Given the description of an element on the screen output the (x, y) to click on. 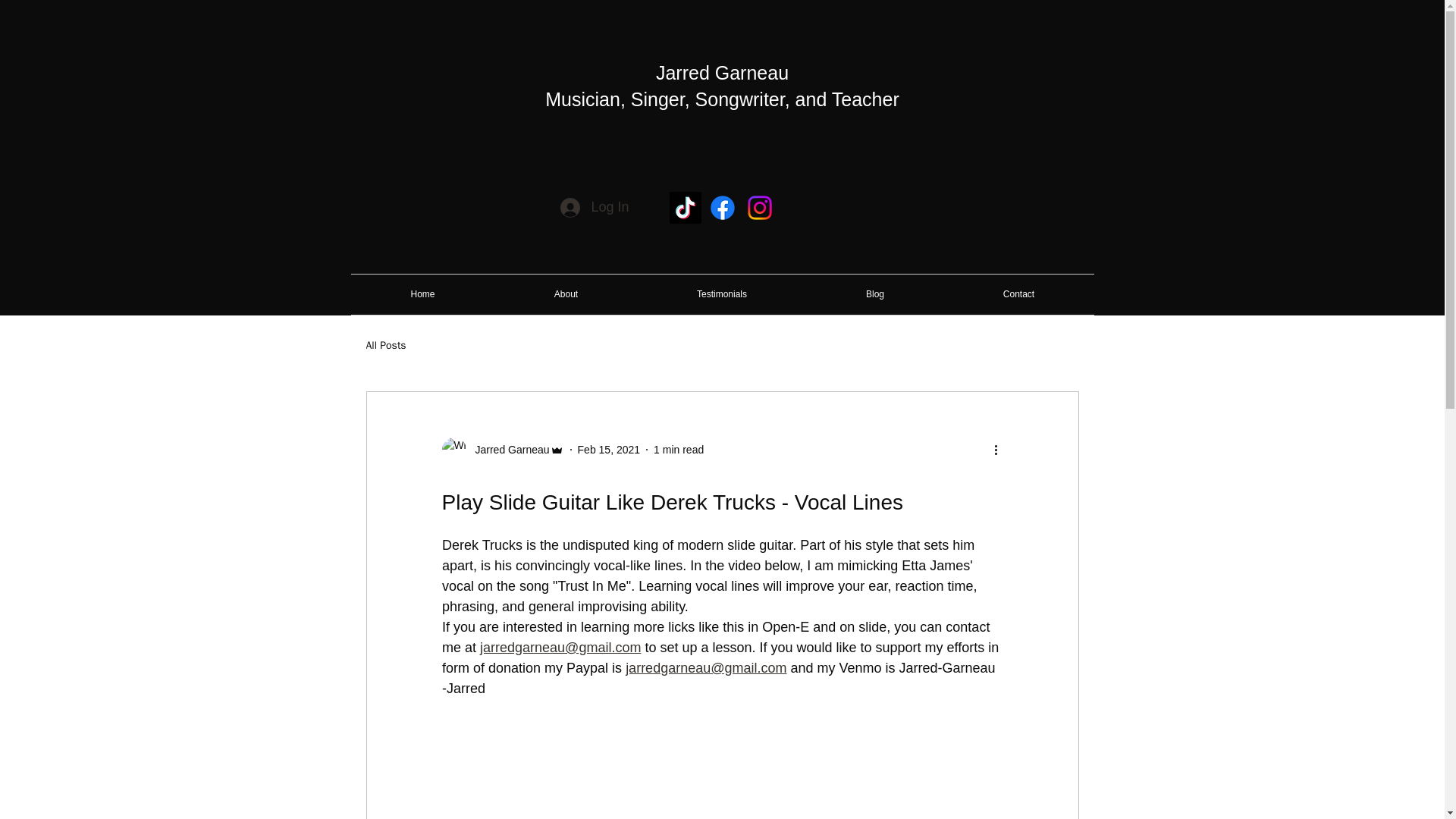
1 min read (678, 449)
Log In (594, 207)
Jarred Garneau (502, 449)
All Posts (385, 345)
Testimonials (721, 294)
Singer,  (662, 98)
Contact (1018, 294)
and Teacher (846, 98)
About (566, 294)
Blog (874, 294)
